Given the description of an element on the screen output the (x, y) to click on. 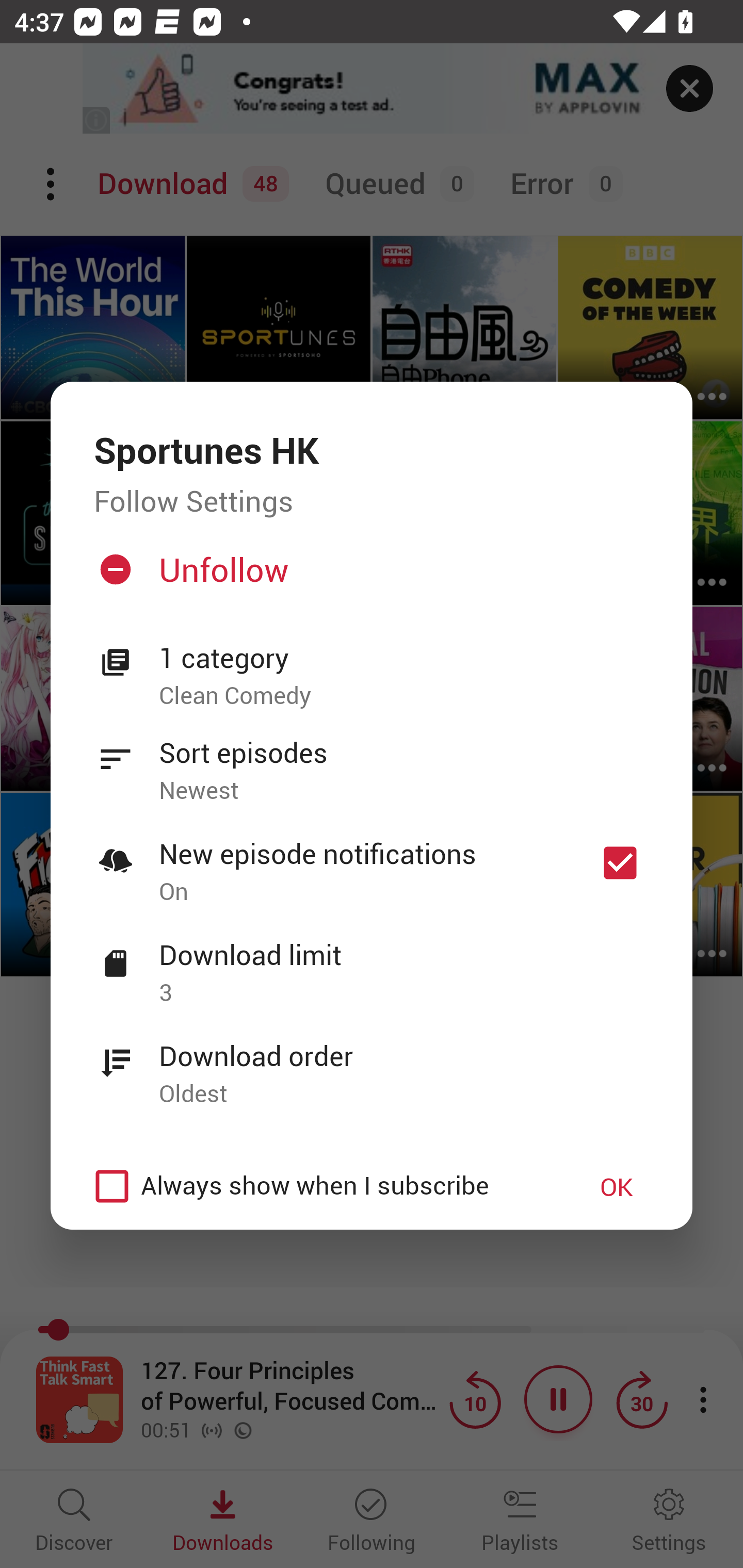
Unfollow (369, 576)
1 category (404, 658)
Clean Comedy (404, 696)
Sort episodes Newest (371, 760)
New episode notifications (620, 863)
Download limit 3 (371, 962)
Download order Oldest (371, 1063)
OK (616, 1186)
Always show when I subscribe (320, 1186)
